Given the description of an element on the screen output the (x, y) to click on. 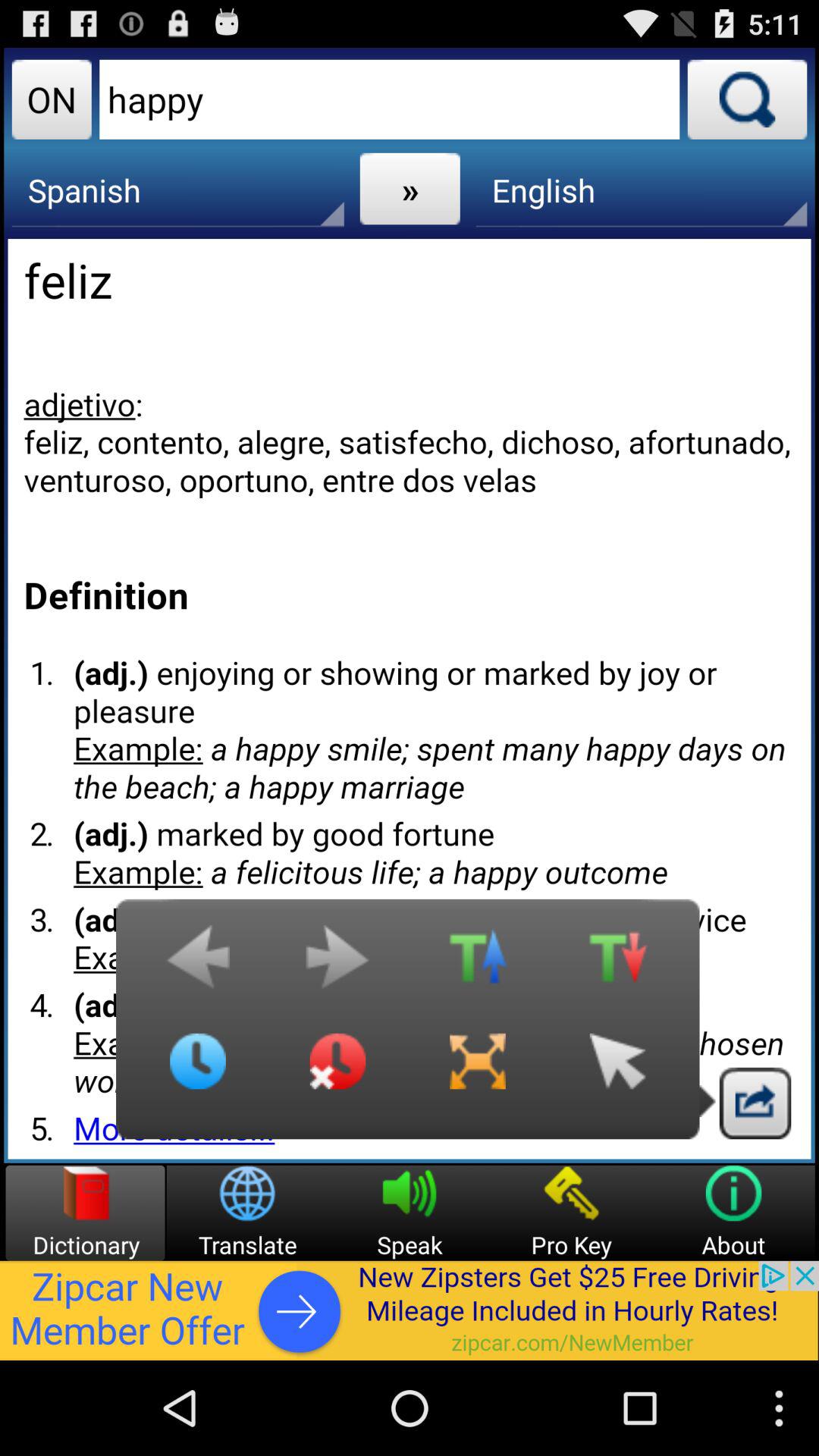
go to next word choice (337, 964)
